Given the description of an element on the screen output the (x, y) to click on. 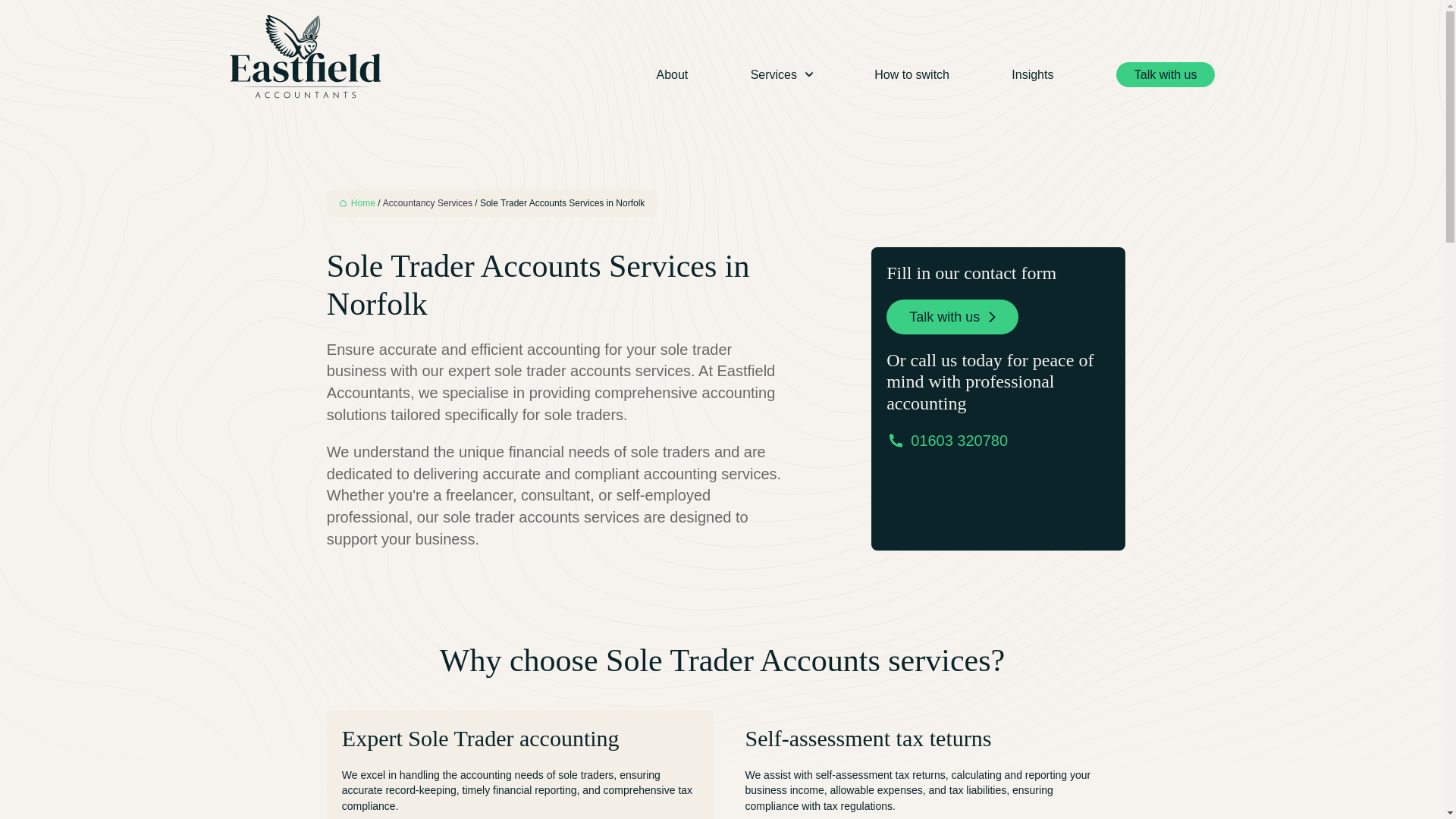
Services (781, 74)
Eastfield Accountants (304, 56)
Insights (1031, 74)
About (672, 74)
How to switch (912, 74)
Talk with us (1165, 74)
